Given the description of an element on the screen output the (x, y) to click on. 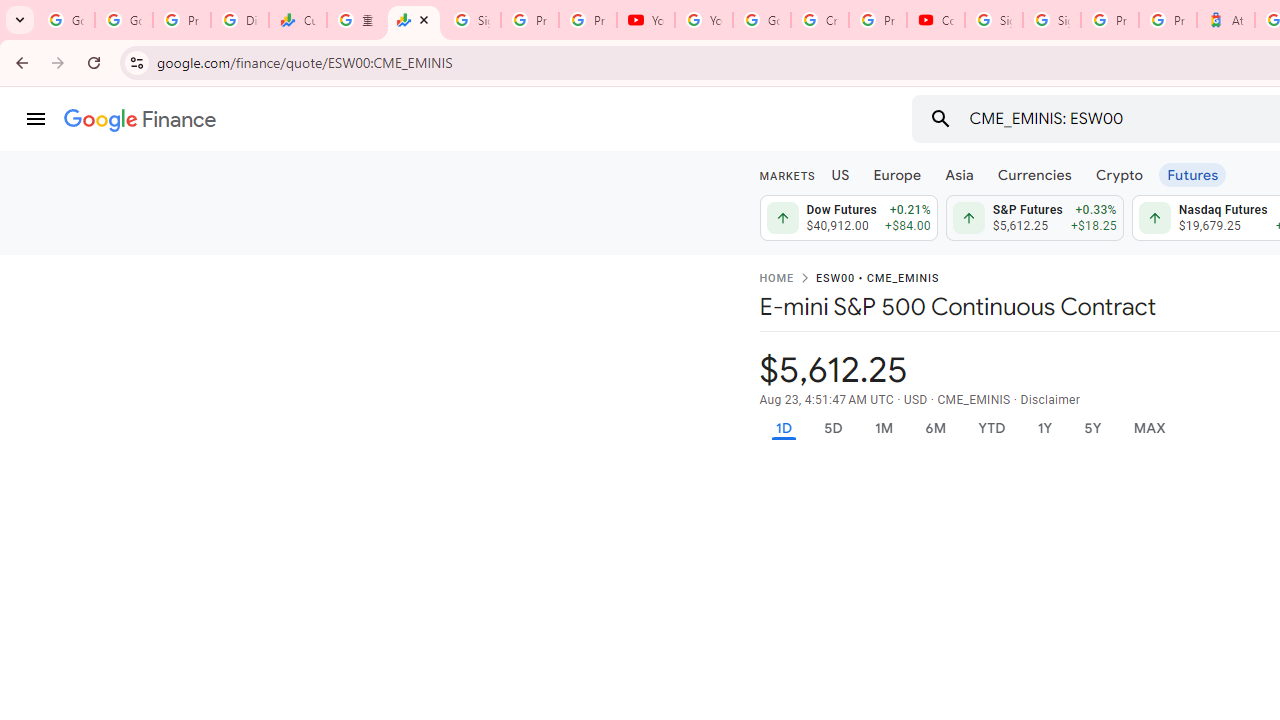
Currencies (1034, 174)
S&P Futures $5,612.25 Up by 0.33% +$18.25 (1033, 218)
YouTube (703, 20)
YTD (991, 427)
1D (783, 427)
5Y (1092, 427)
5D (832, 427)
Create your Google Account (819, 20)
US (840, 174)
1M (882, 427)
